Given the description of an element on the screen output the (x, y) to click on. 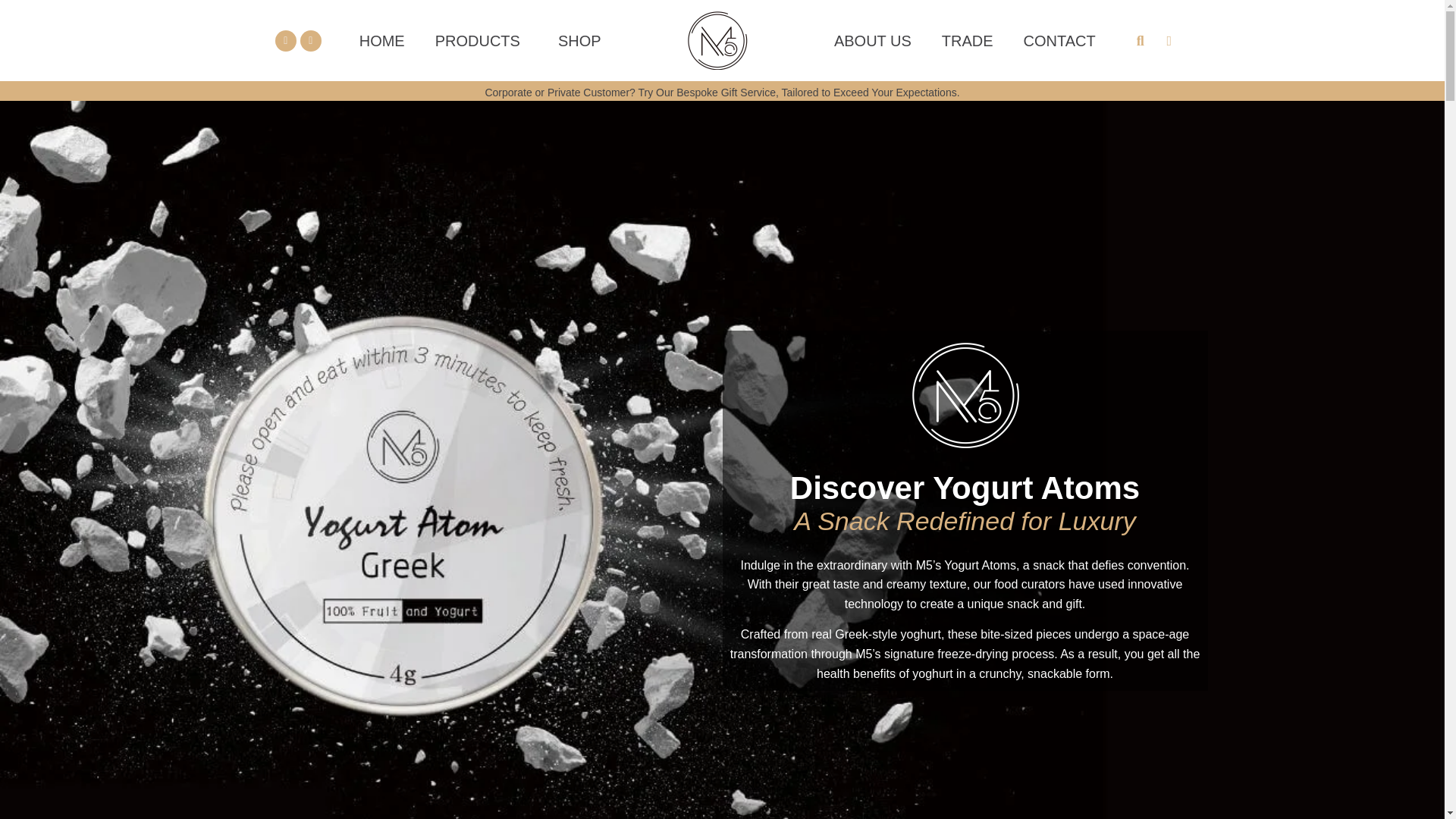
TRADE (967, 39)
M5-Logo-Black.png (717, 40)
ABOUT US (872, 39)
SHOP (579, 39)
CONTACT (1059, 39)
M5 Logo Transparent (965, 395)
HOME (381, 39)
PRODUCTS (481, 39)
